Given the description of an element on the screen output the (x, y) to click on. 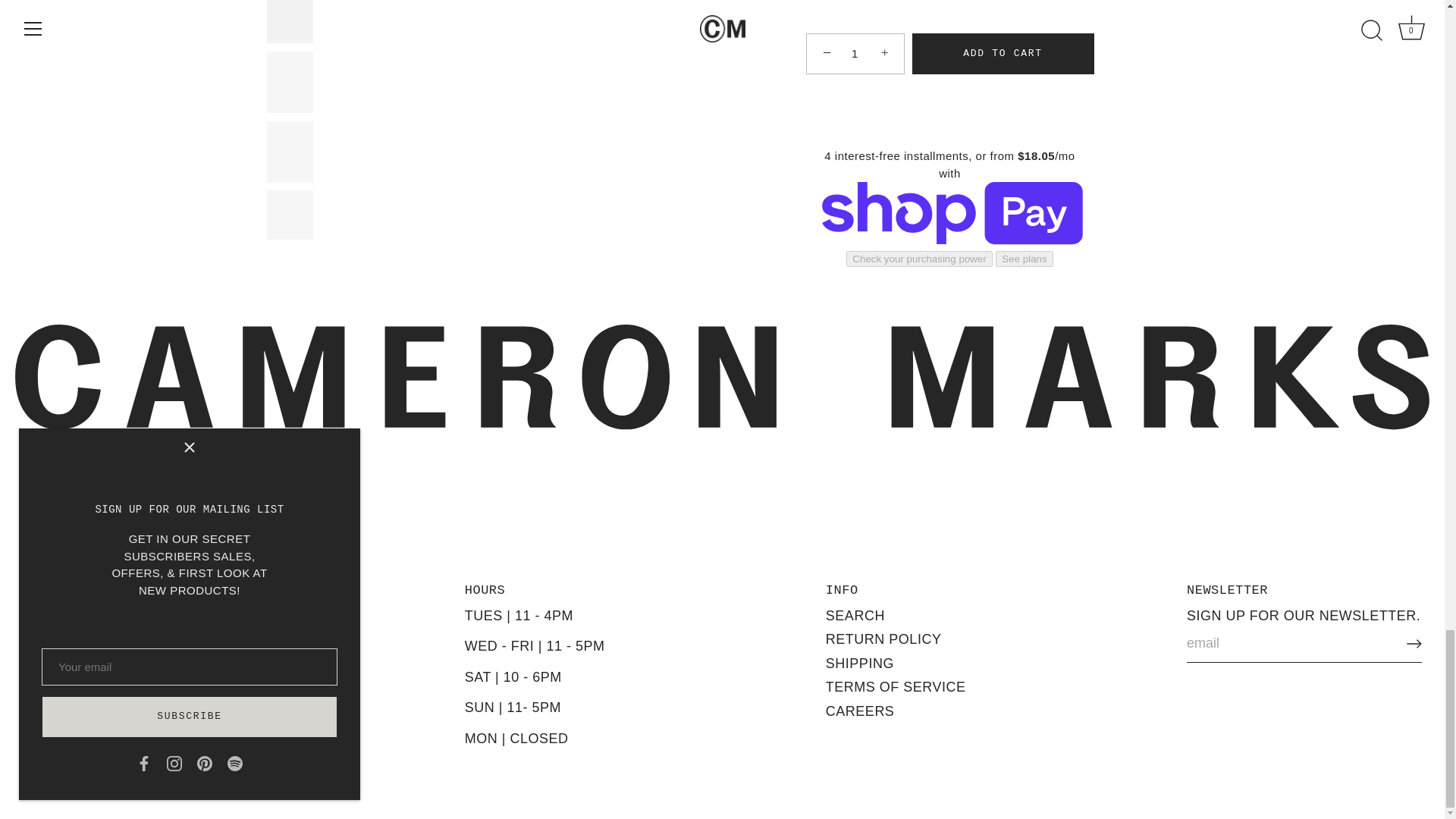
PINTEREST (105, 703)
INSTAGRAM (68, 703)
RIGHT ARROW LONG (1414, 643)
Map (111, 654)
